Given the description of an element on the screen output the (x, y) to click on. 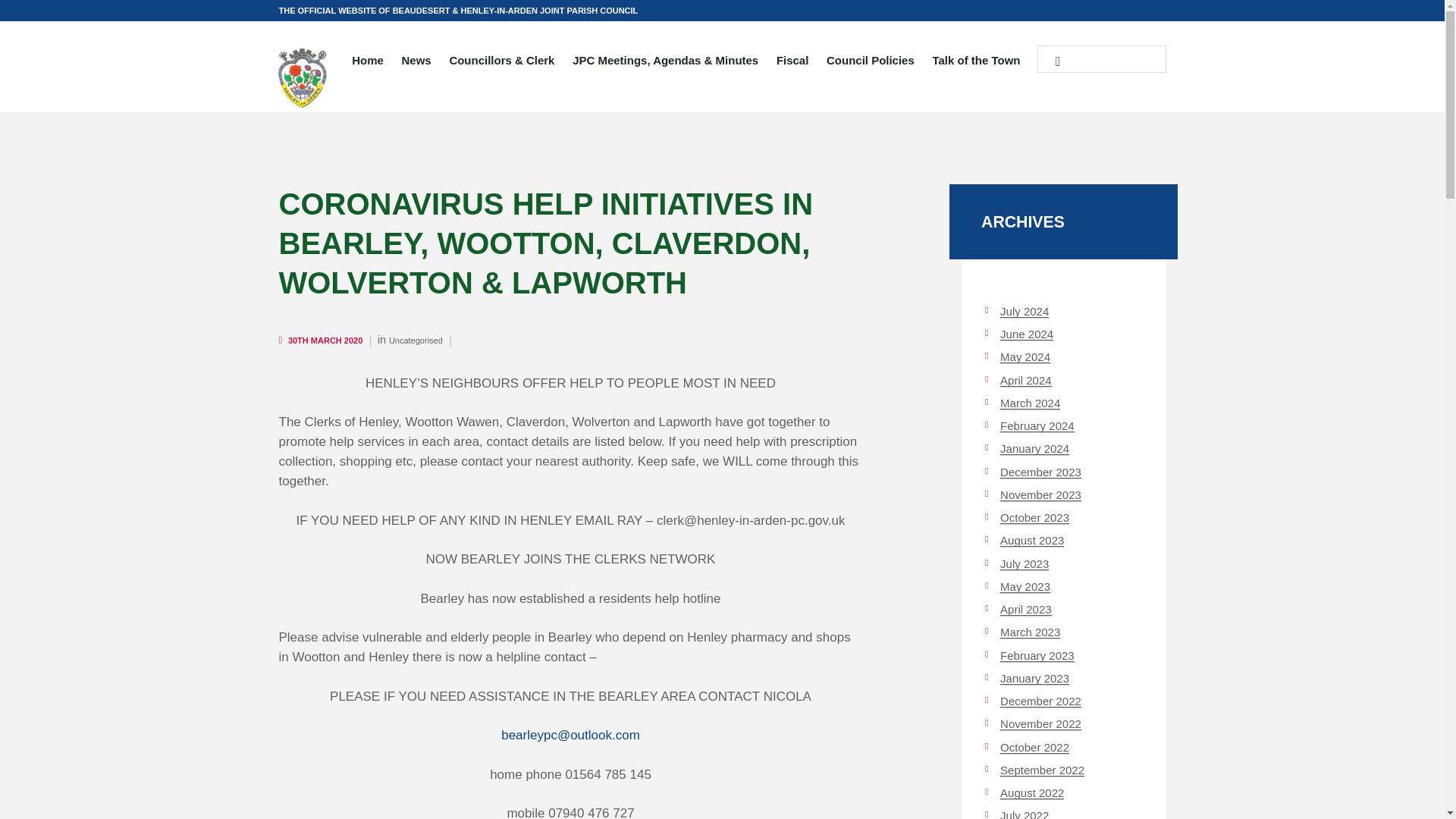
Talk of the Town (976, 62)
Council Policies (869, 62)
